Given the description of an element on the screen output the (x, y) to click on. 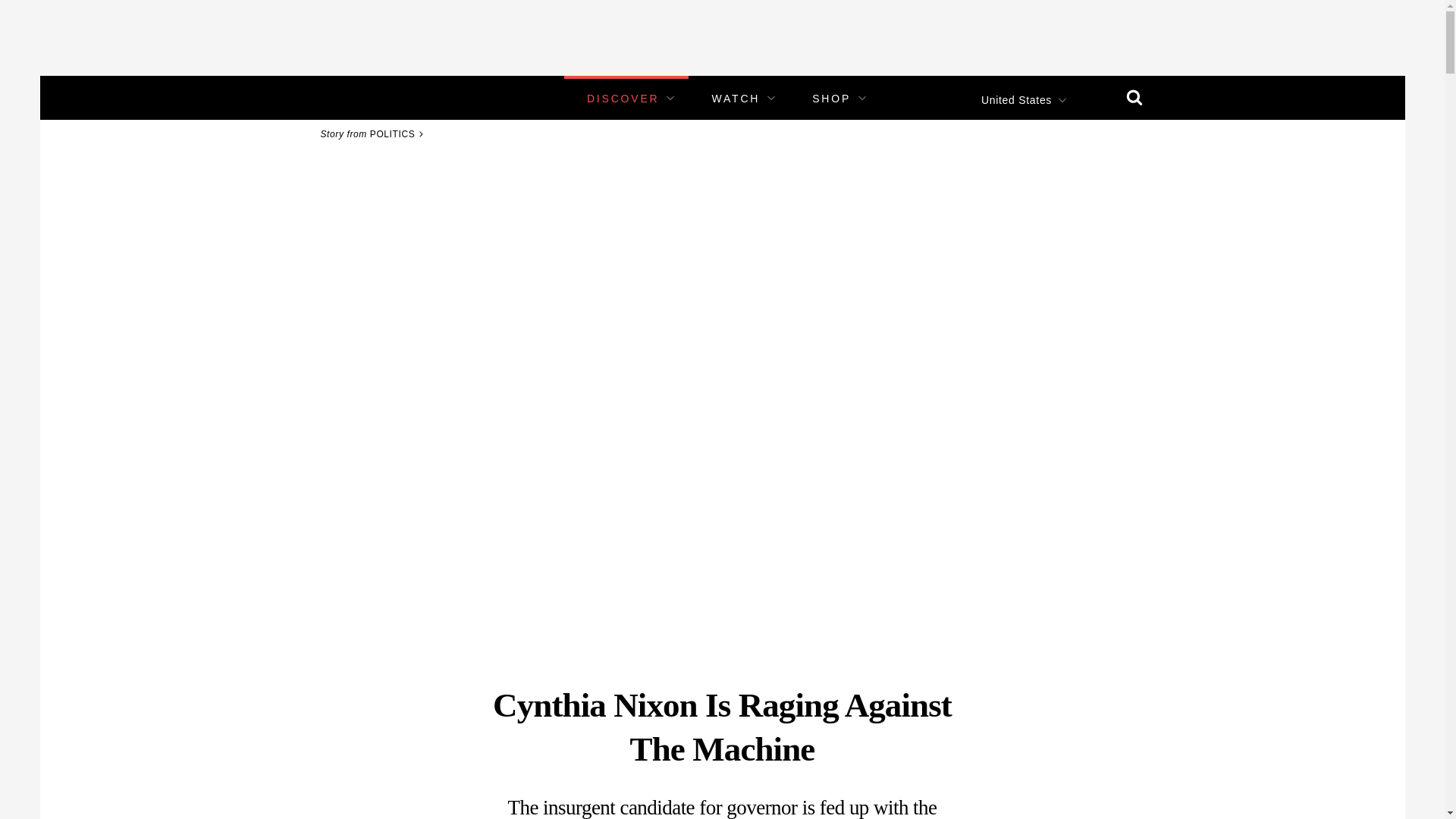
WATCH (735, 98)
Refinery29 (352, 97)
SHOP (831, 98)
Story from POLITICS (374, 133)
DISCOVER (622, 98)
